Given the description of an element on the screen output the (x, y) to click on. 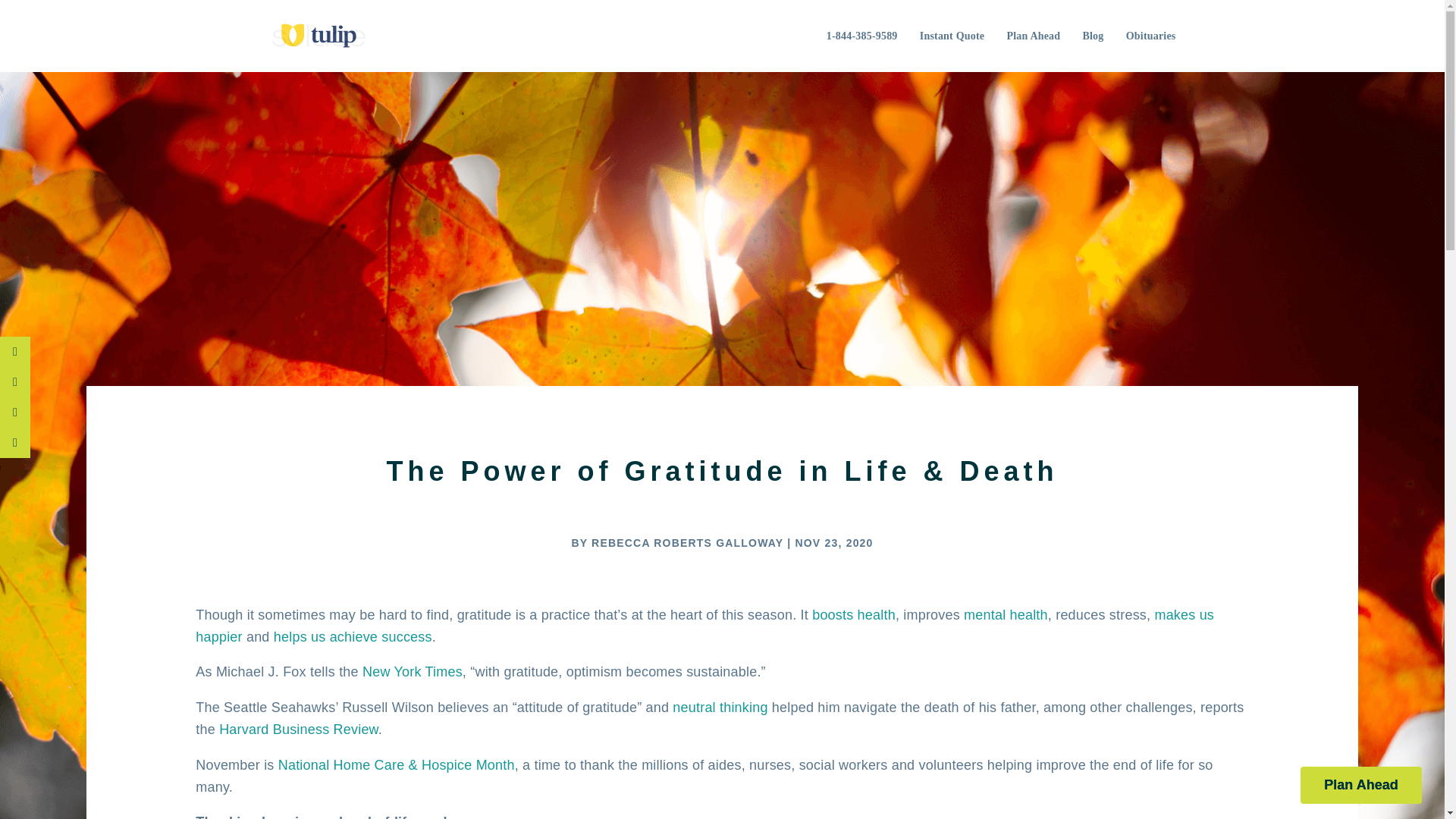
helps us achieve success (352, 636)
Harvard Business Review (298, 729)
Plan Ahead (1361, 784)
1-844-385-9589 (862, 36)
mental health (1005, 614)
neutral thinking (719, 707)
Instant Quote (951, 36)
boosts health (853, 614)
REBECCA ROBERTS GALLOWAY (687, 542)
Obituaries (1150, 36)
Plan Ahead (1032, 36)
Blog (1092, 36)
Posts by Rebecca Roberts Galloway (687, 542)
New York Times (412, 671)
makes us happier (704, 625)
